Given the description of an element on the screen output the (x, y) to click on. 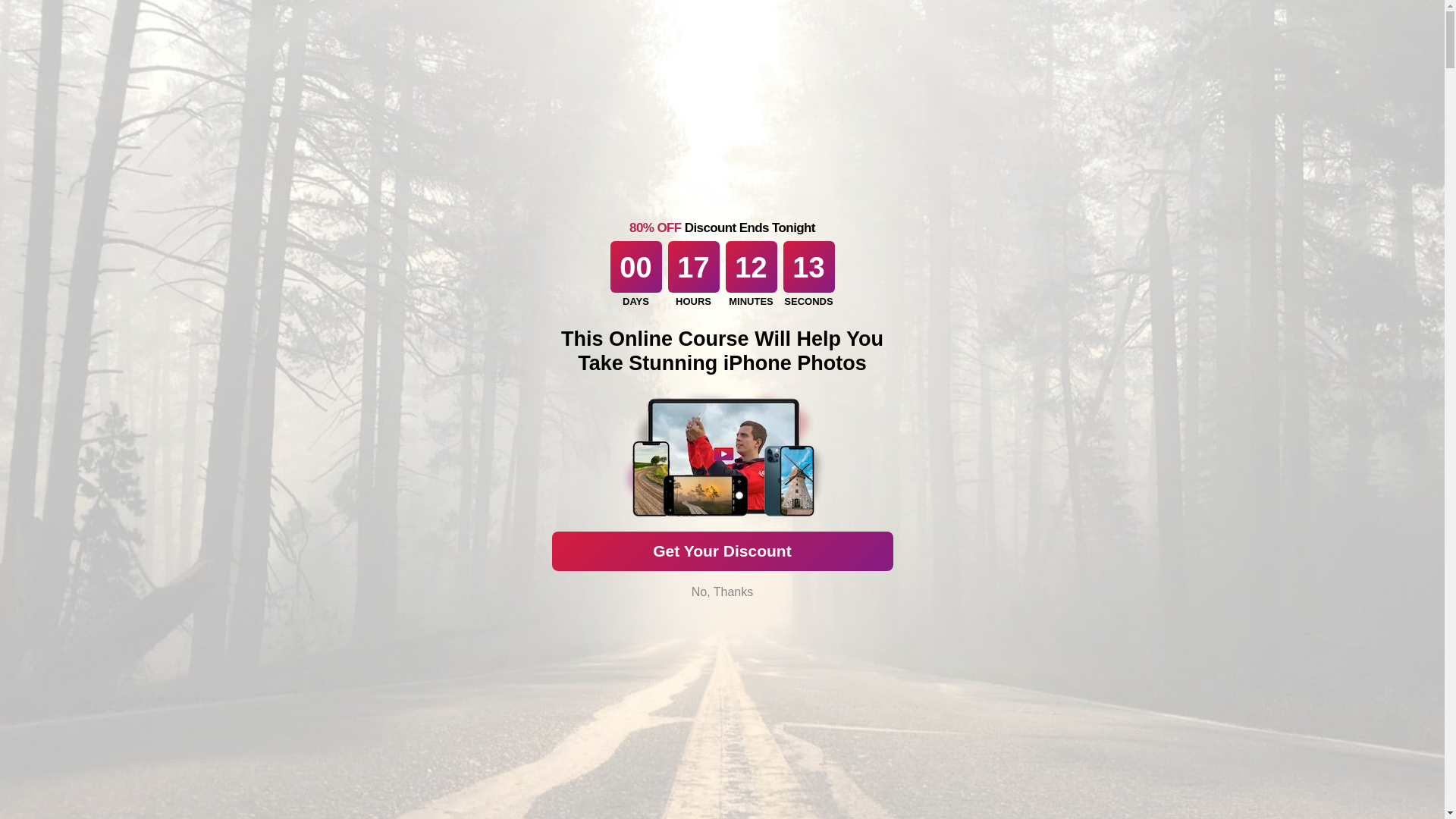
Get Your Discount (722, 550)
Get Your Discount (722, 550)
